Given the description of an element on the screen output the (x, y) to click on. 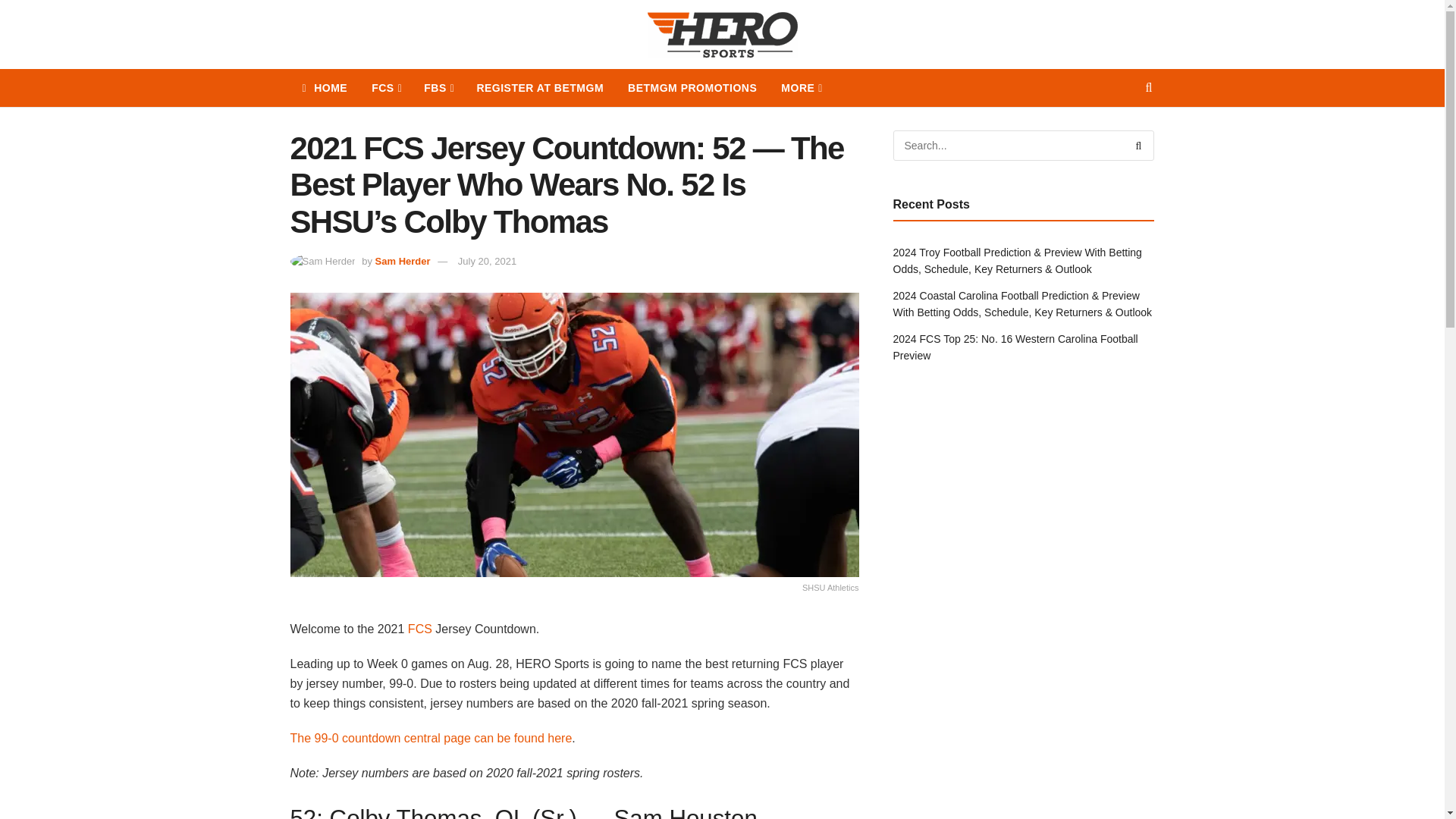
FCS (385, 87)
REGISTER AT BETMGM (539, 87)
FBS (438, 87)
MORE (800, 87)
BETMGM PROMOTIONS (691, 87)
HOME (324, 87)
